Given the description of an element on the screen output the (x, y) to click on. 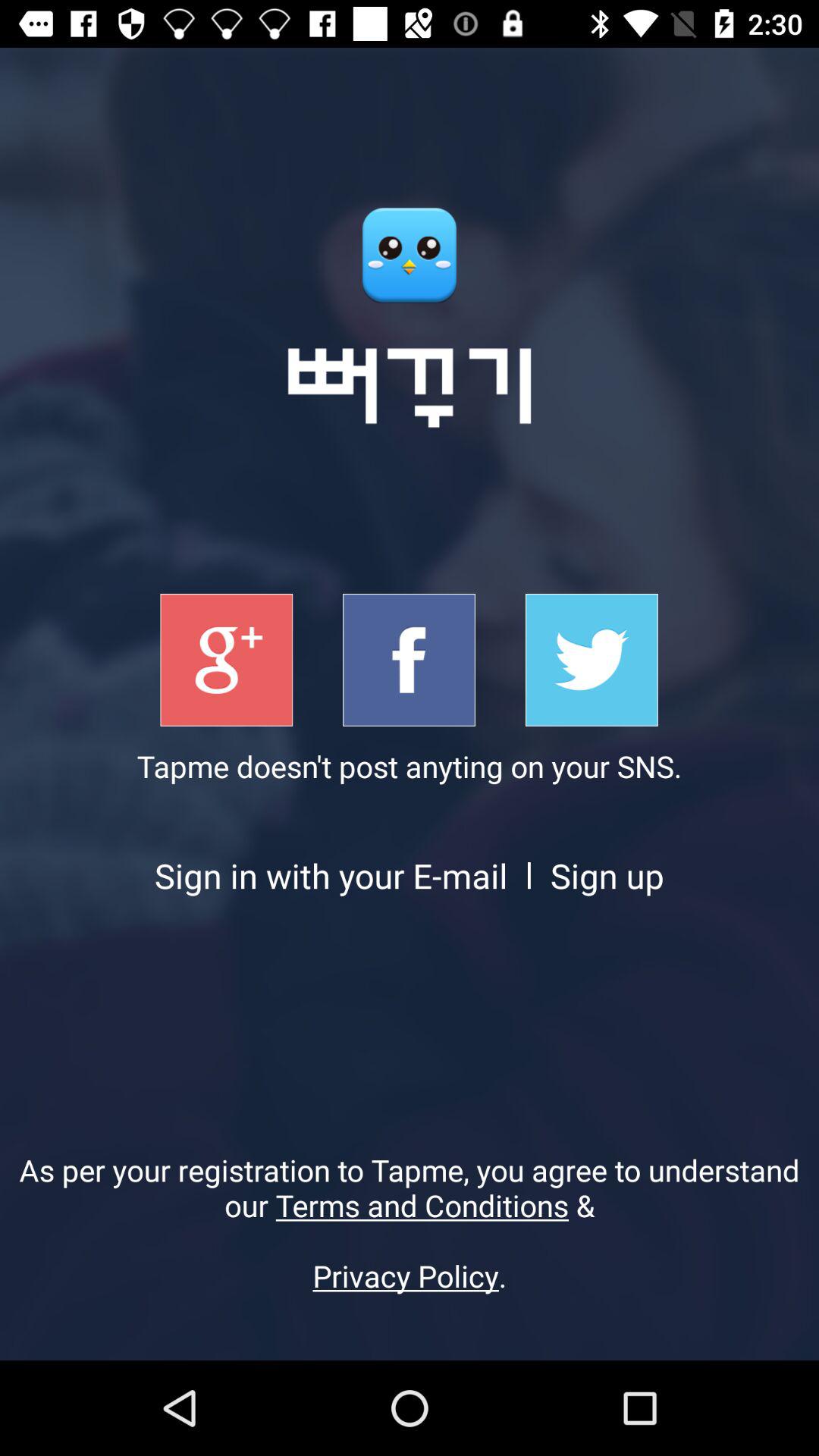
google plus (226, 659)
